Given the description of an element on the screen output the (x, y) to click on. 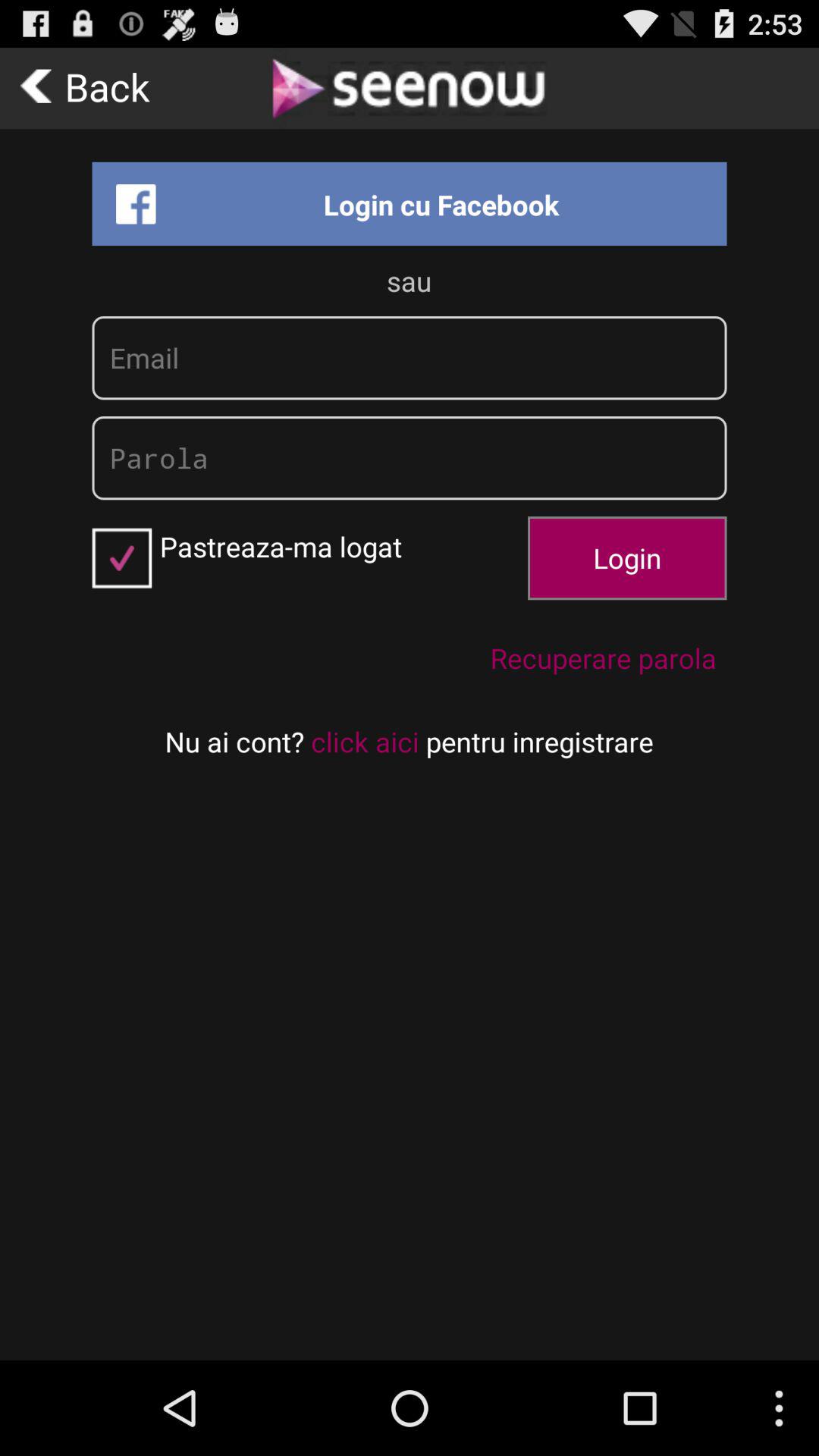
click on login icon (627, 557)
click on login cu facebook icon (409, 203)
click on text field which says parola (409, 457)
select the text on the bottom line of the web page (408, 742)
select the text field email on the web page (409, 356)
